Given the description of an element on the screen output the (x, y) to click on. 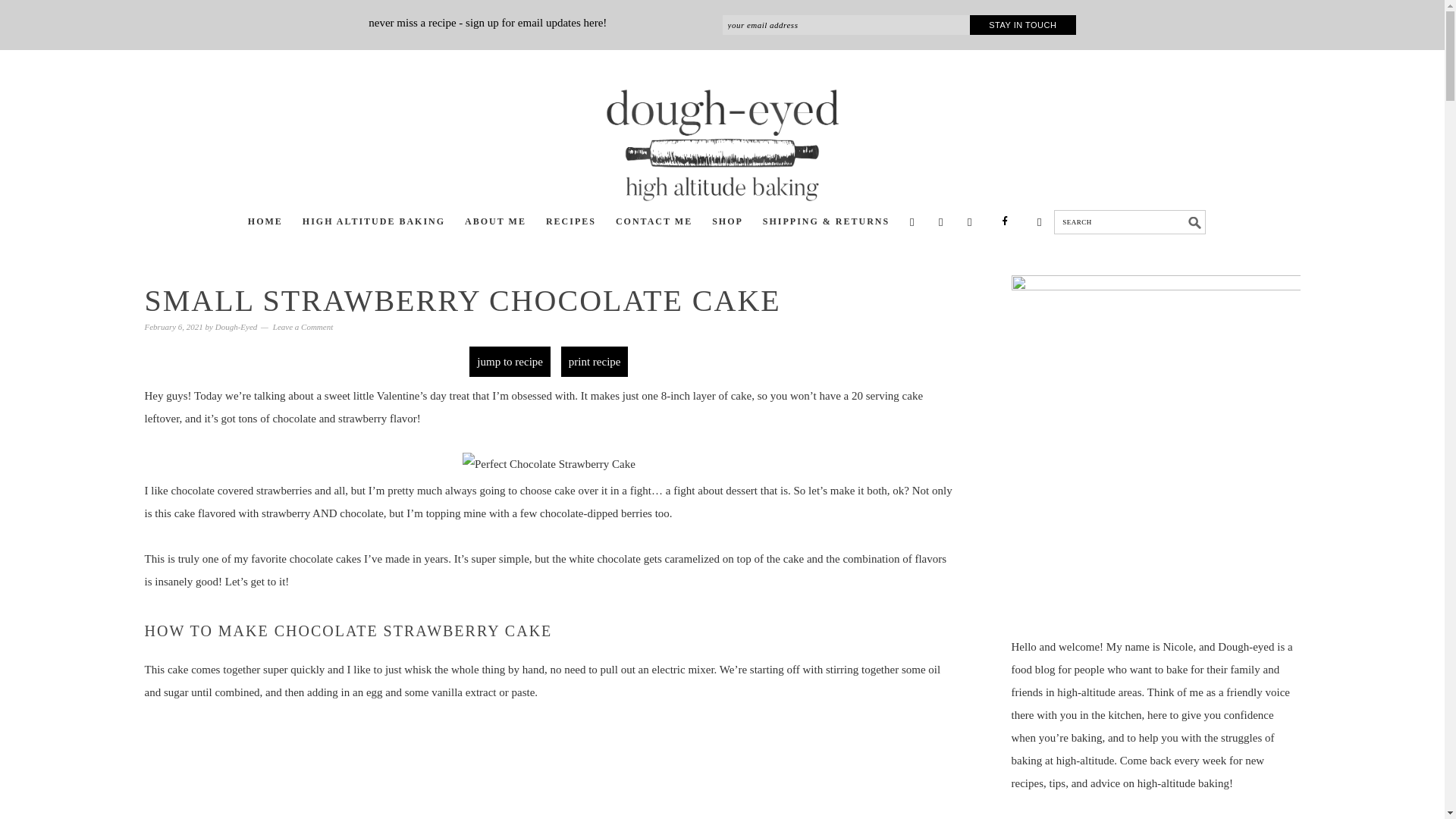
HIGH ALTITUDE BAKING (374, 222)
stay in touch (1022, 25)
Dough-Eyed (236, 326)
ABOUT ME (495, 222)
CONTACT ME (654, 222)
stay in touch (1022, 25)
HOME (265, 222)
Instagram (940, 221)
Twitter (911, 221)
print recipe (594, 361)
SHOP (727, 222)
jump to recipe (509, 361)
